Given the description of an element on the screen output the (x, y) to click on. 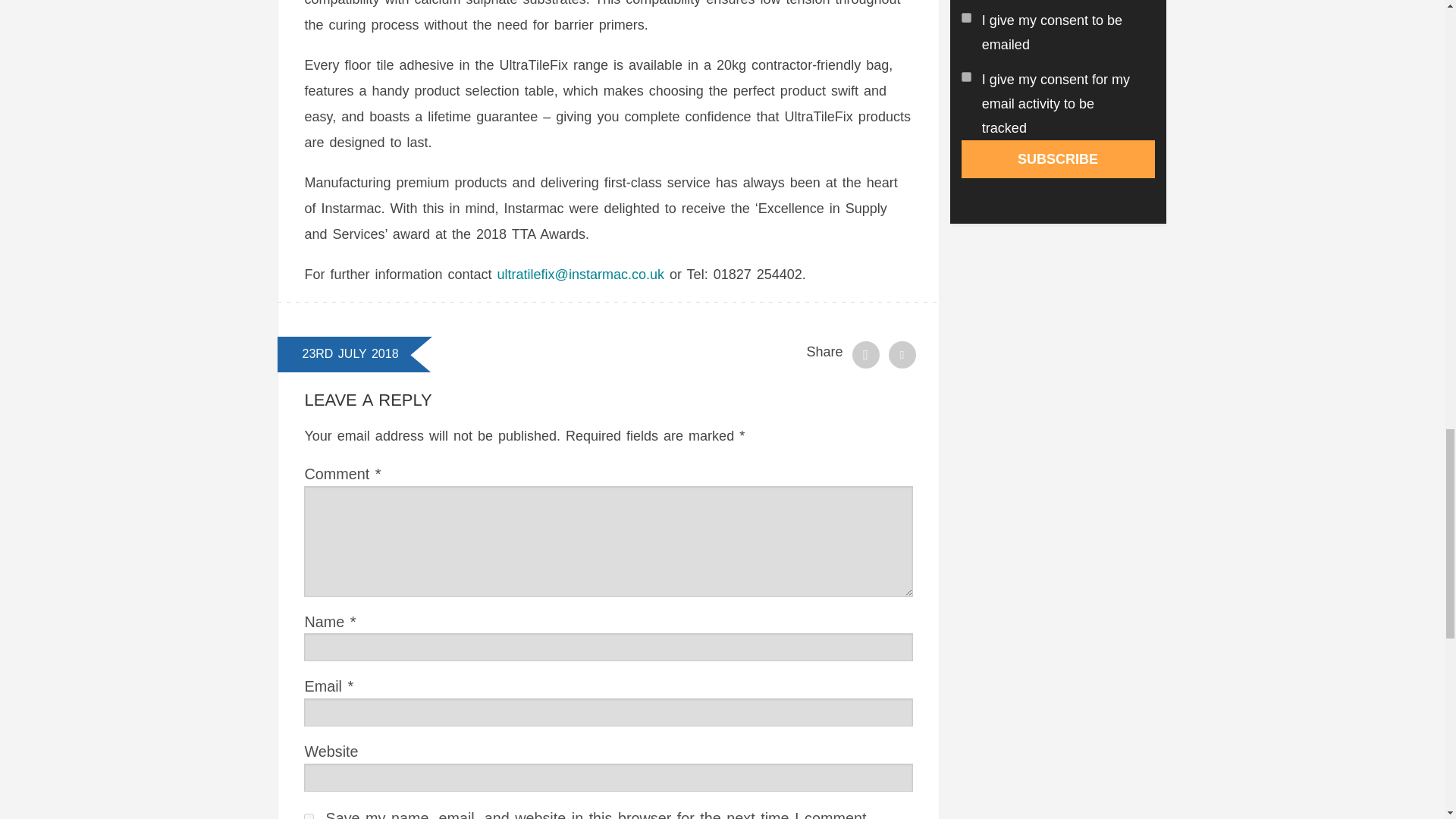
23RD JULY 2018 (349, 353)
SUBSCRIBE (1057, 159)
on (965, 76)
yes (309, 816)
on (965, 17)
